Given the description of an element on the screen output the (x, y) to click on. 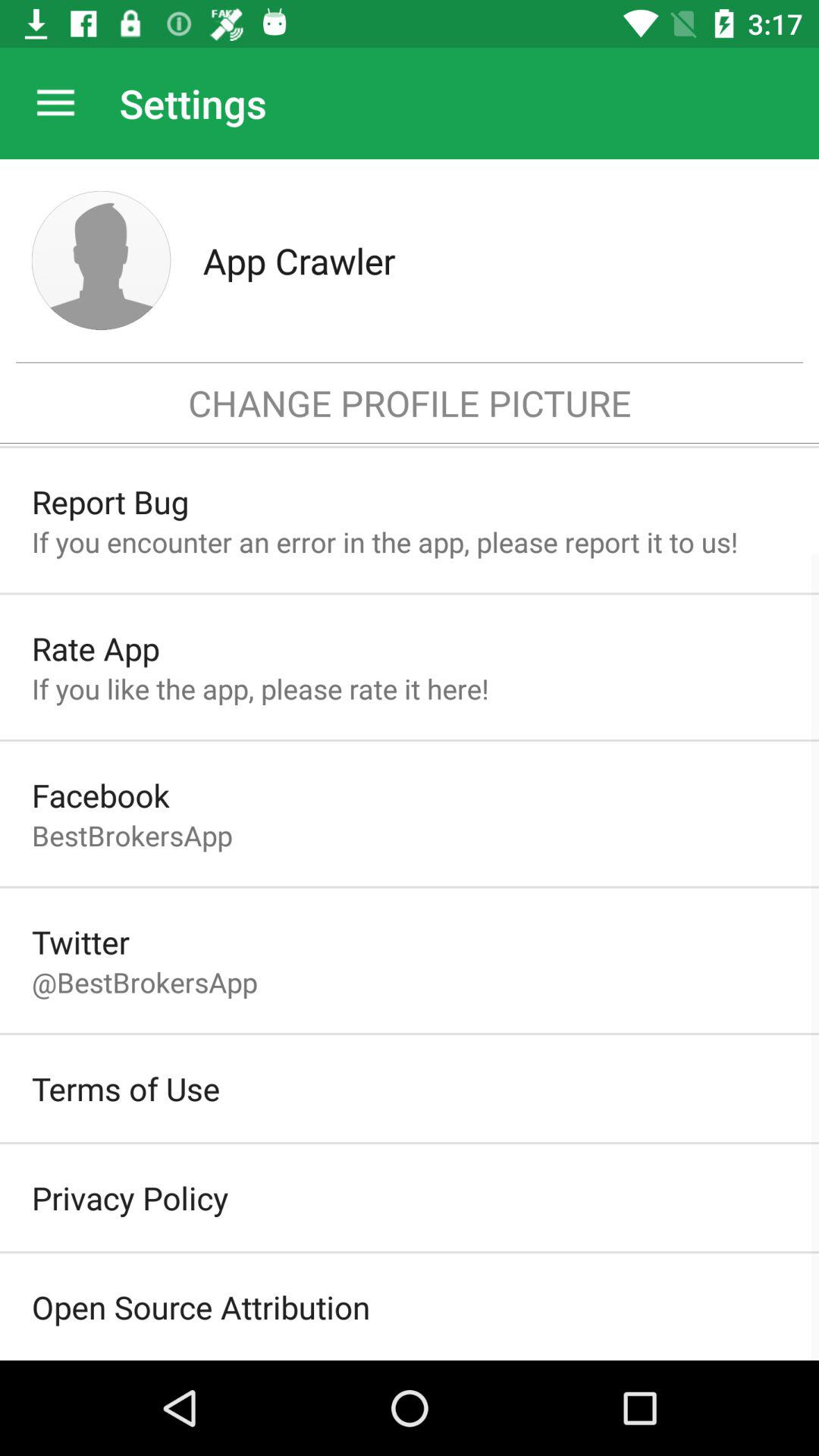
change profile picture one of two buttons (101, 260)
